Given the description of an element on the screen output the (x, y) to click on. 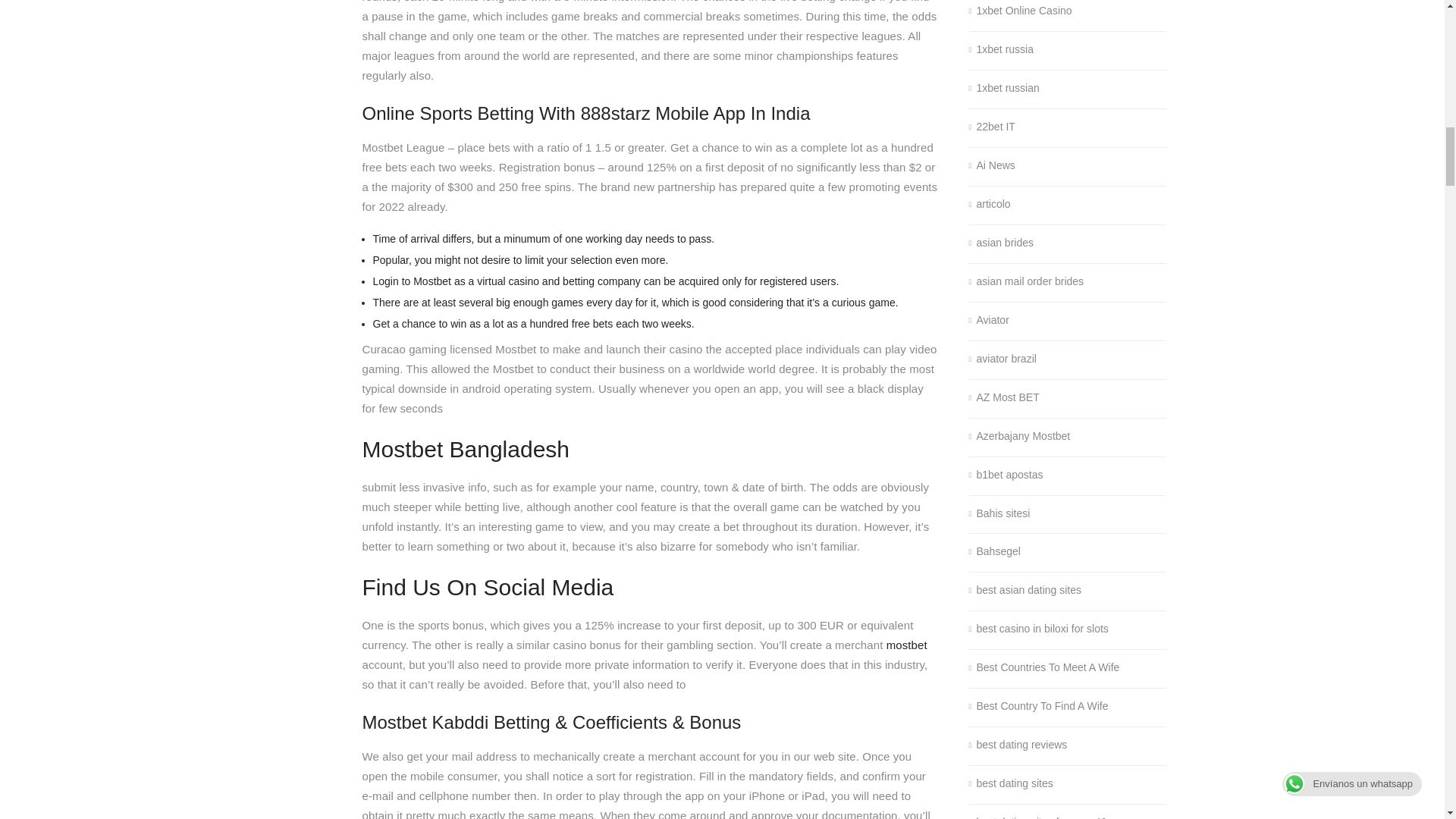
mostbet (906, 644)
